Given the description of an element on the screen output the (x, y) to click on. 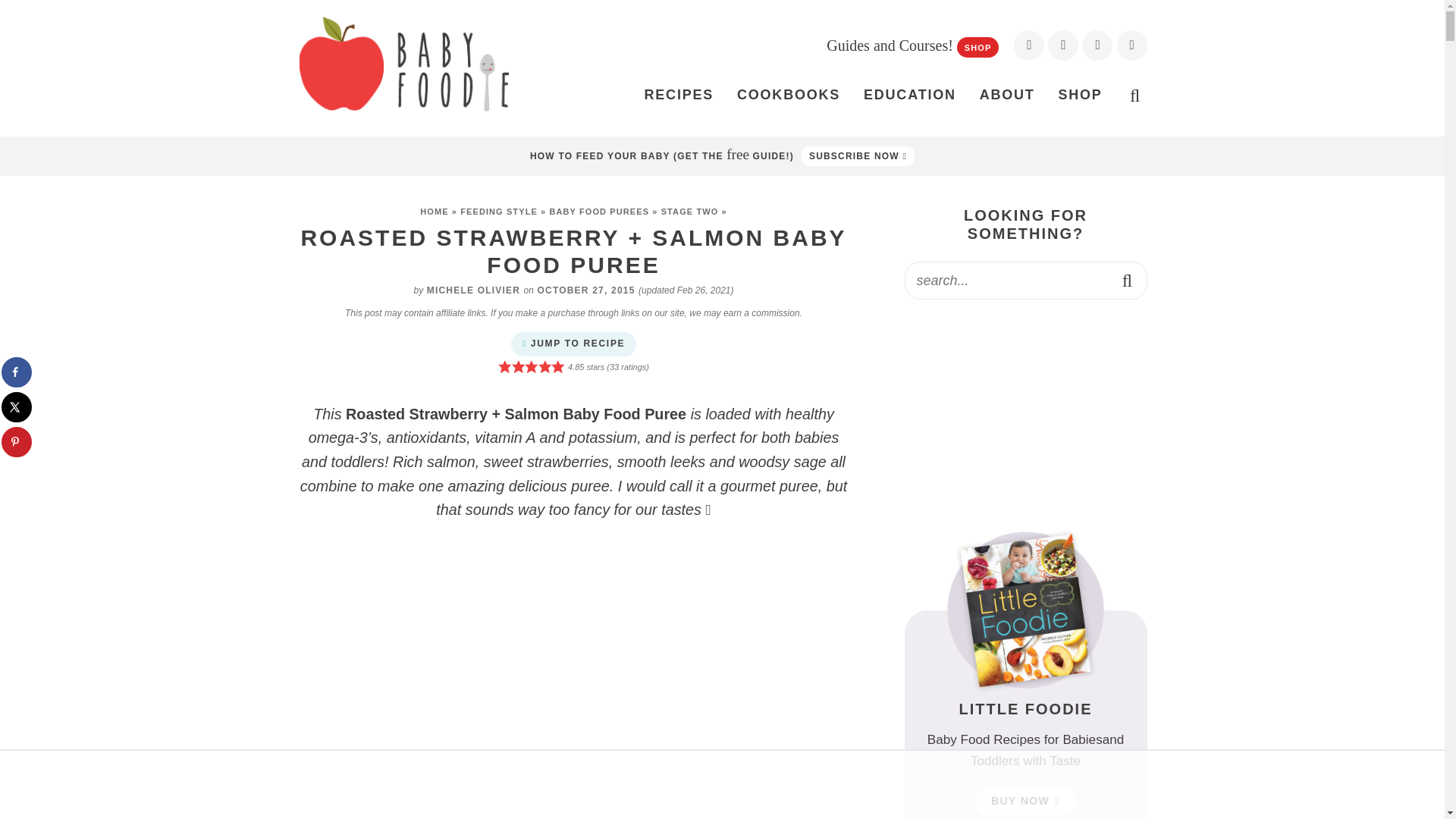
Baby Foode (403, 64)
Share on X (16, 407)
Save to Pinterest (16, 441)
Share on Facebook (16, 372)
